Given the description of an element on the screen output the (x, y) to click on. 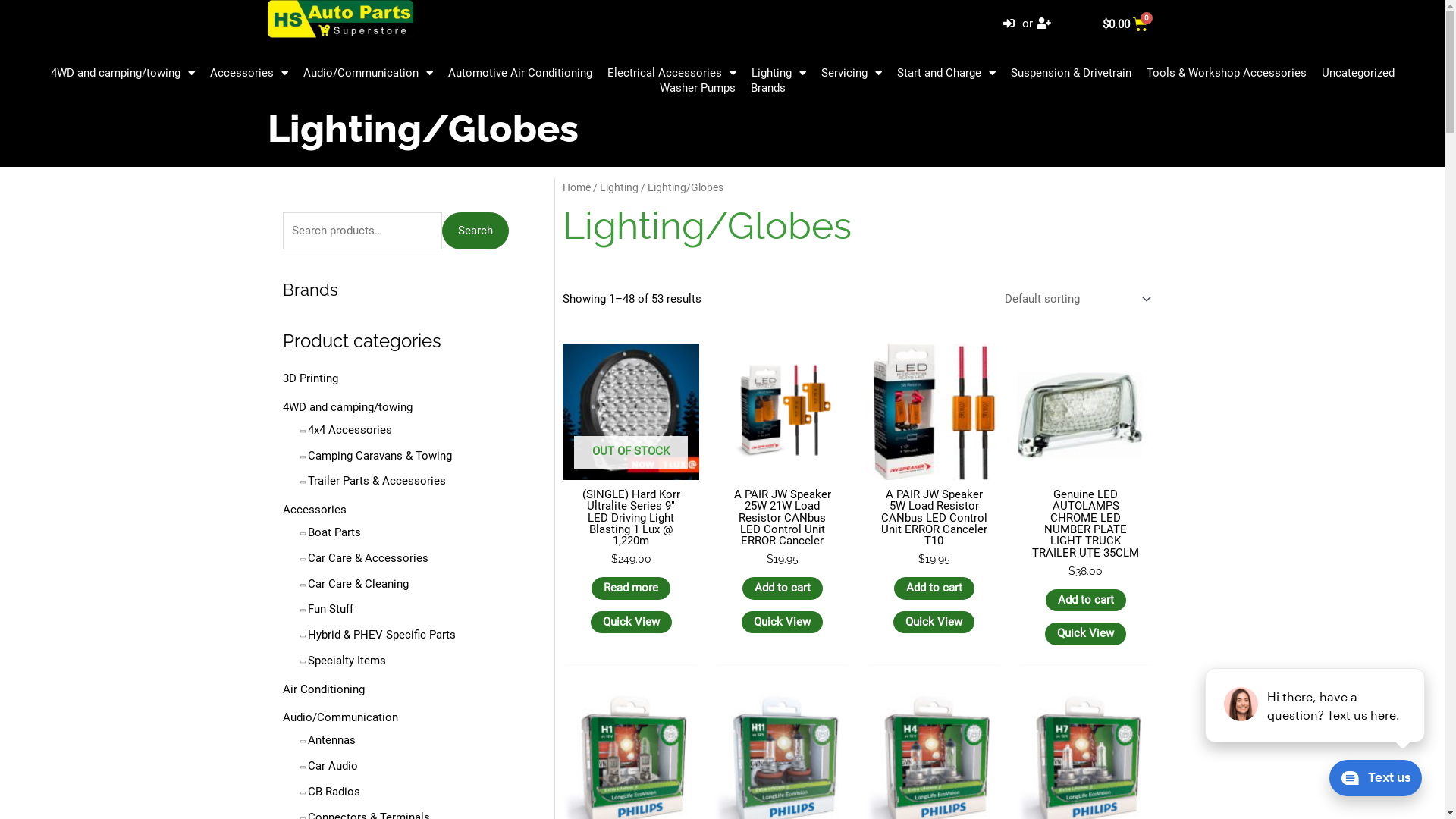
Lighting Element type: text (777, 72)
Boat Parts Element type: text (333, 532)
Trailer Parts & Accessories Element type: text (376, 480)
Audio/Communication Element type: text (367, 72)
Automotive Air Conditioning Element type: text (519, 72)
Car Care & Cleaning Element type: text (357, 583)
Accessories Element type: text (247, 72)
Lighting Element type: text (618, 187)
Car Care & Accessories Element type: text (367, 557)
Specialty Items Element type: text (346, 660)
Suspension & Drivetrain Element type: text (1070, 72)
Brands Element type: text (309, 289)
Audio/Communication Element type: text (339, 717)
podium webchat widget prompt Element type: hover (1315, 705)
CB Radios Element type: text (333, 791)
Search Element type: text (475, 230)
Tools & Workshop Accessories Element type: text (1226, 72)
Car Audio Element type: text (332, 765)
Add to cart Element type: text (934, 588)
Quick View Element type: text (781, 622)
Uncategorized Element type: text (1357, 72)
3D Printing Element type: text (309, 378)
Quick View Element type: text (933, 622)
Air Conditioning Element type: text (323, 689)
Servicing Element type: text (850, 72)
Accessories Element type: text (313, 509)
$0.00
0
Cart Element type: text (1125, 23)
Read more Element type: text (630, 588)
Quick View Element type: text (1085, 633)
4WD and camping/towing Element type: text (346, 407)
Antennas Element type: text (331, 739)
4x4 Accessories Element type: text (349, 429)
4WD and camping/towing Element type: text (121, 72)
Electrical Accessories Element type: text (671, 72)
Add to cart Element type: text (1085, 600)
Add to cart Element type: text (782, 588)
Washer Pumps Element type: text (697, 87)
Brands Element type: text (768, 87)
Home Element type: text (576, 187)
Fun Stuff Element type: text (330, 608)
Start and Charge Element type: text (945, 72)
Quick View Element type: text (630, 622)
Hybrid & PHEV Specific Parts Element type: text (381, 634)
OUT OF STOCK Element type: text (630, 411)
Camping Caravans & Towing Element type: text (379, 455)
Hs Motors Logo Element type: hover (339, 18)
